Given the description of an element on the screen output the (x, y) to click on. 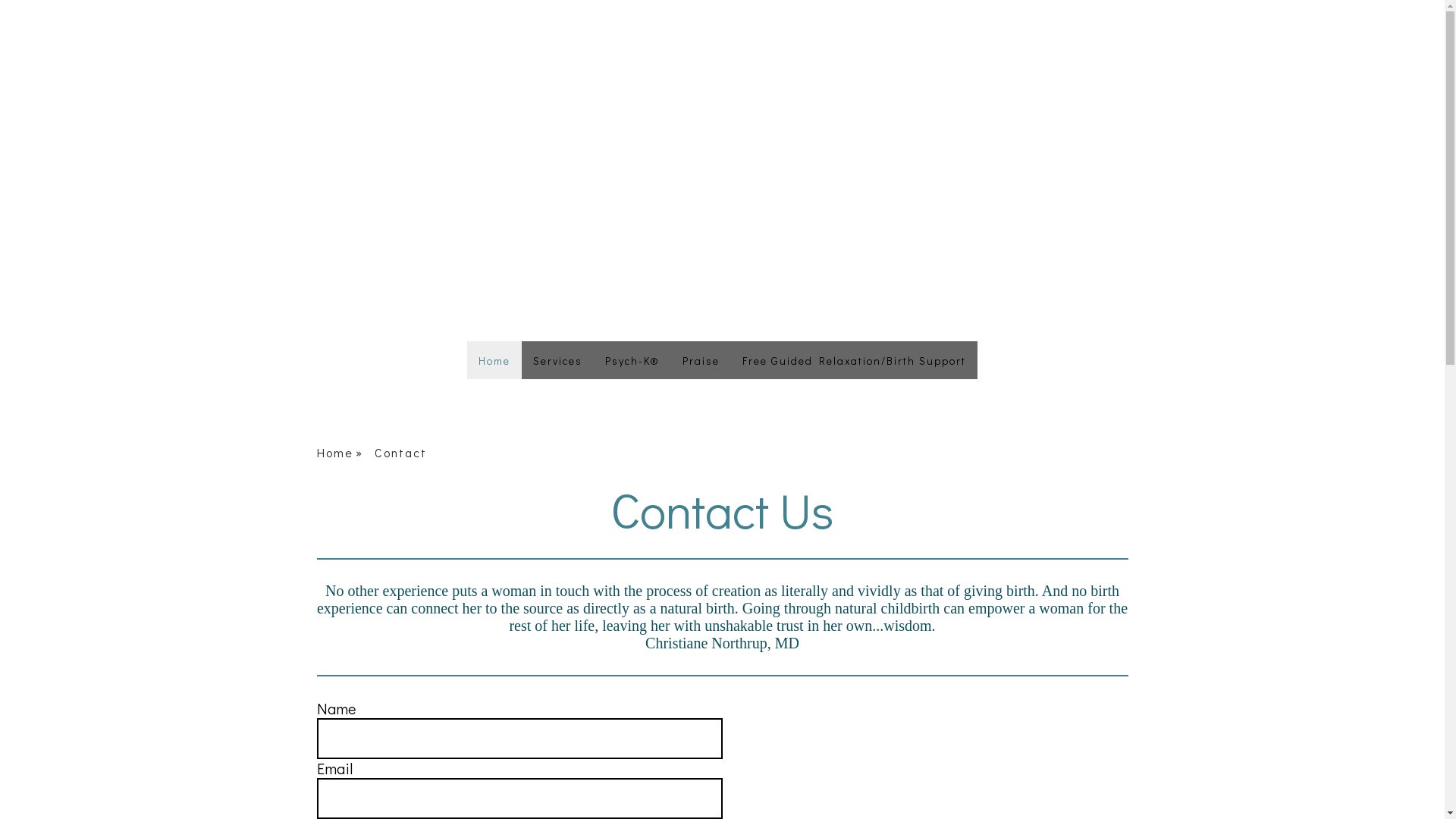
Services Element type: text (557, 360)
Home Element type: text (494, 360)
Home Element type: text (345, 452)
Contact Element type: text (407, 452)
Praise Element type: text (701, 360)
Free Guided Relaxation/Birth Support Element type: text (854, 360)
